Given the description of an element on the screen output the (x, y) to click on. 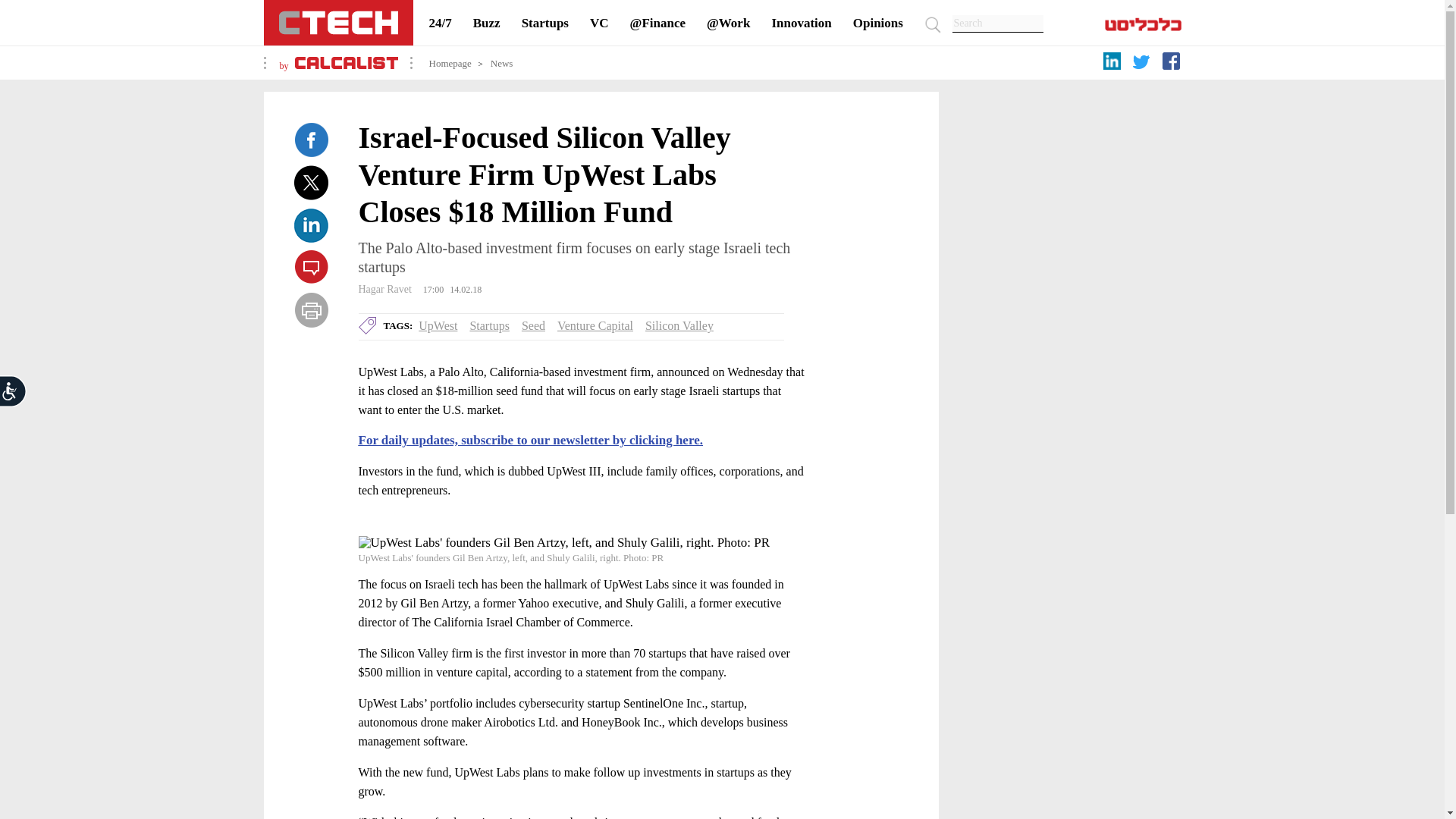
calcalist (345, 65)
VC (598, 23)
linkedin (1113, 63)
twitter (1144, 66)
Linkedin (311, 225)
Twitter (311, 182)
Silicon Valley (679, 325)
Homepage (450, 62)
News (501, 62)
facebook (1173, 63)
Print (311, 309)
Talkback (311, 267)
Startups (488, 325)
Venture Capital (595, 325)
